Given the description of an element on the screen output the (x, y) to click on. 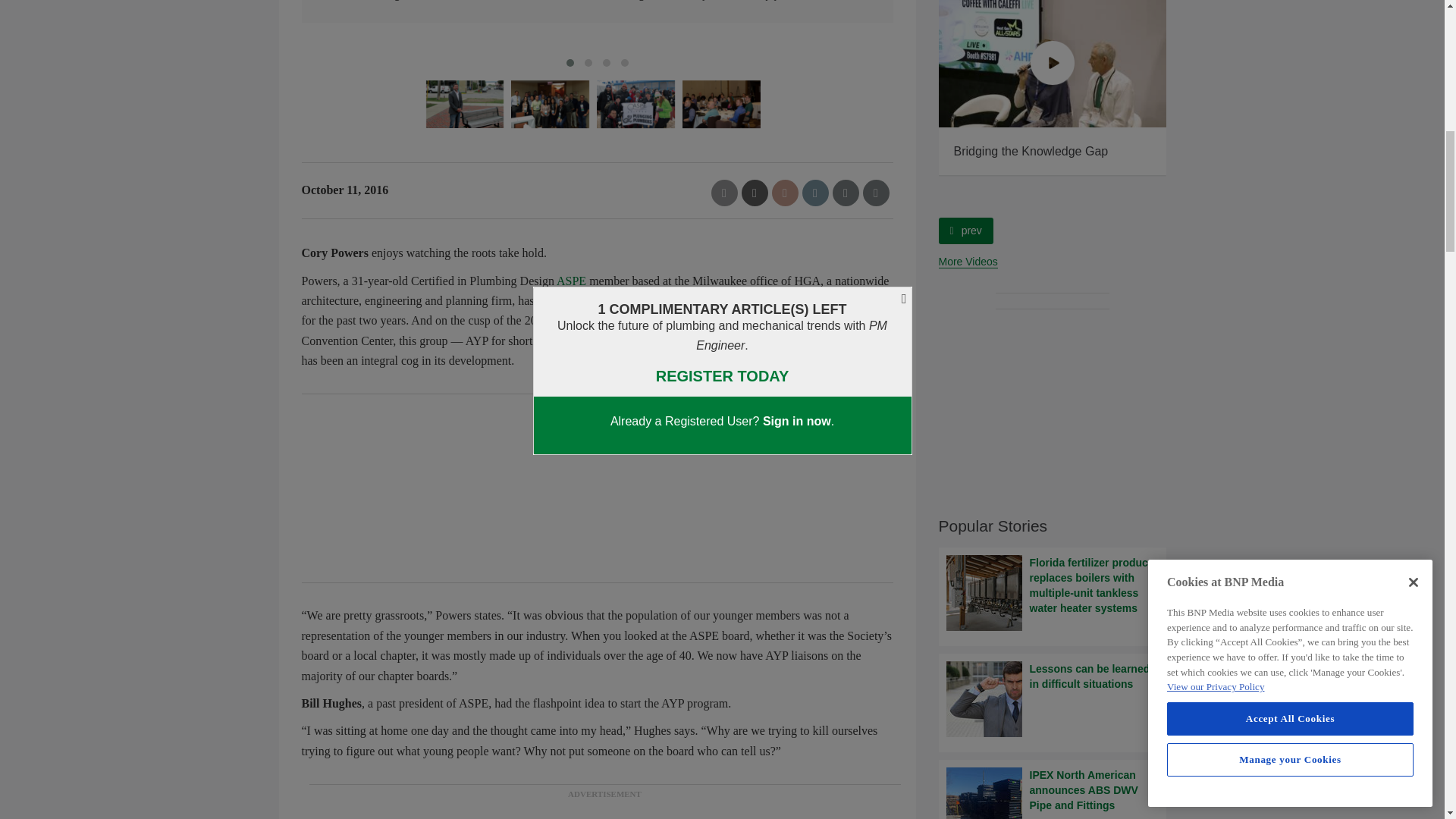
Boilers: Will they stay or go? (825, 63)
IPEX North American announces ABS DWV Pipe and Fittings (1052, 793)
Lessons can be learned in difficult situations (1052, 698)
Bridging the Knowledge Gap (1052, 63)
